Given the description of an element on the screen output the (x, y) to click on. 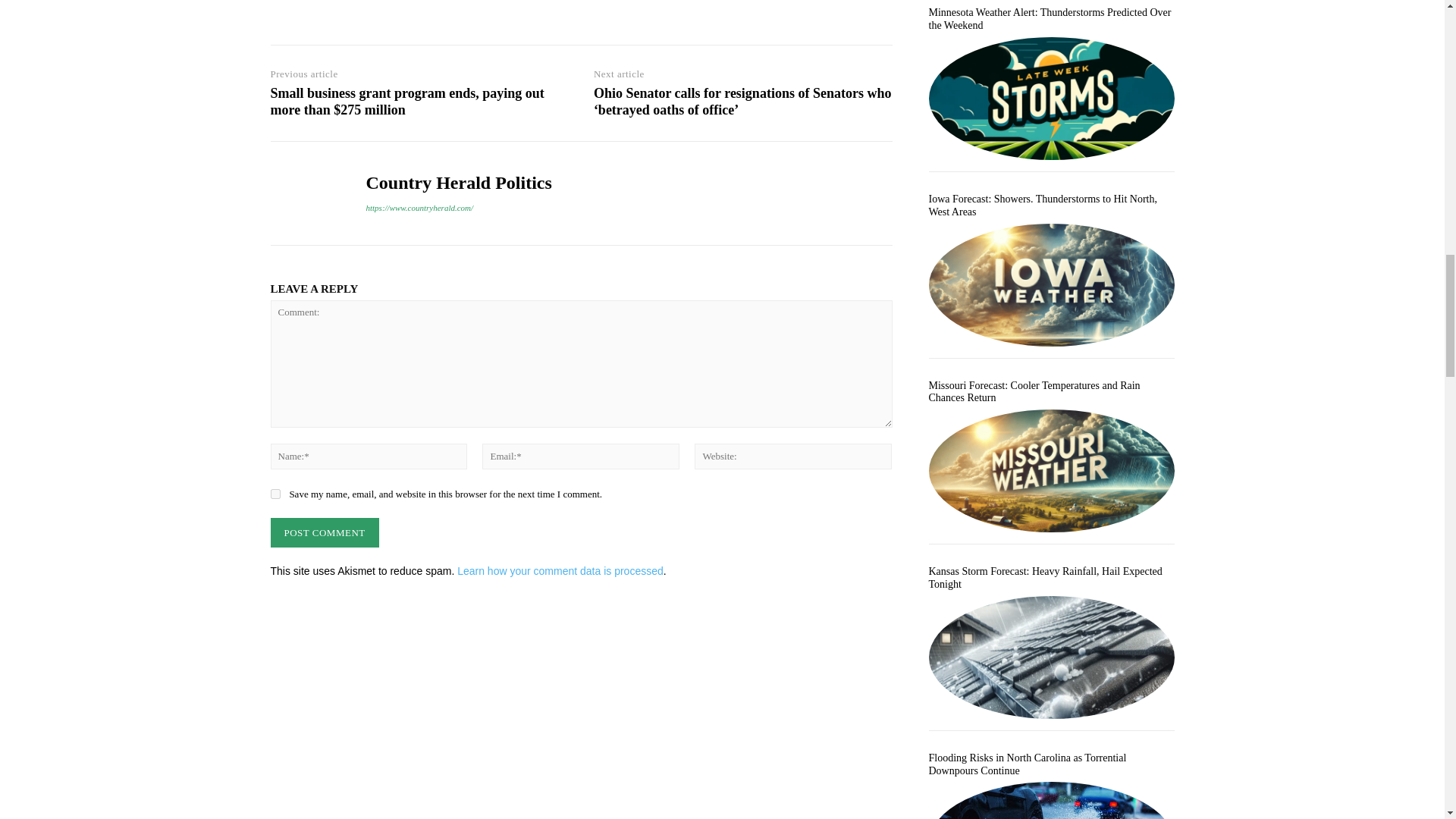
yes (274, 493)
Post Comment (323, 532)
Country Herald Politics (305, 193)
